Given the description of an element on the screen output the (x, y) to click on. 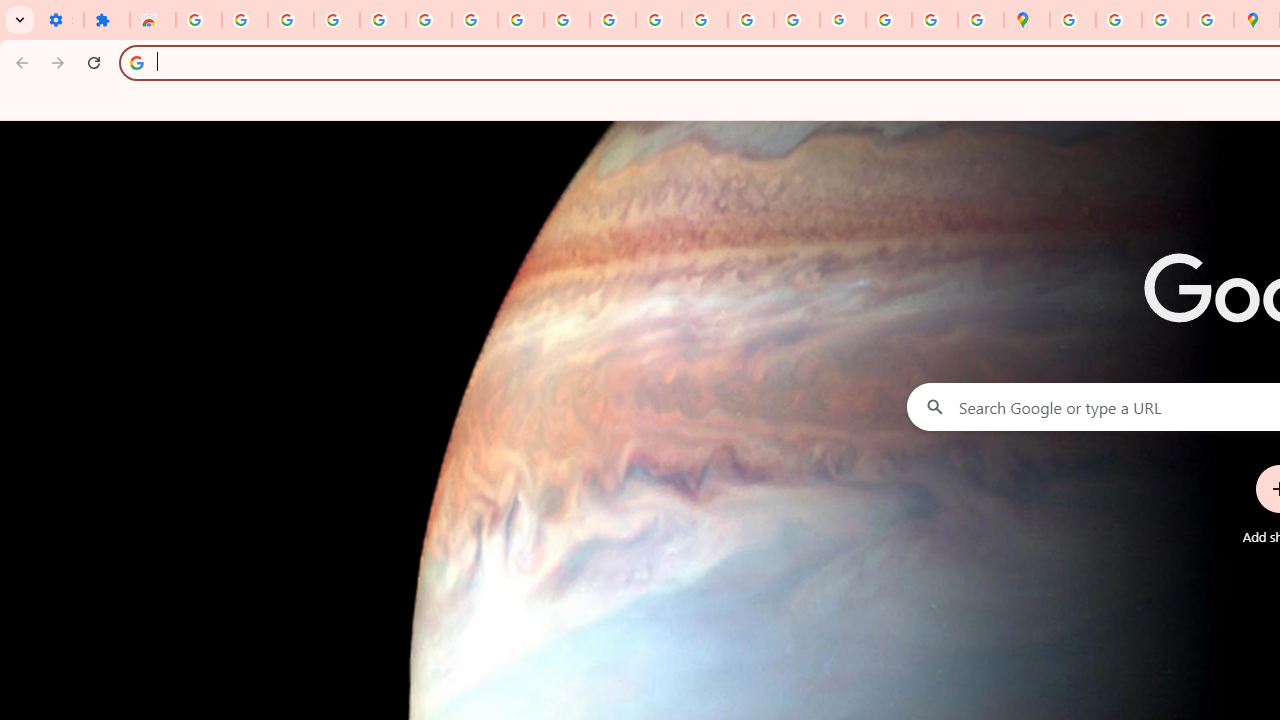
Google Account (520, 20)
Google Maps (1026, 20)
Sign in - Google Accounts (198, 20)
